Given the description of an element on the screen output the (x, y) to click on. 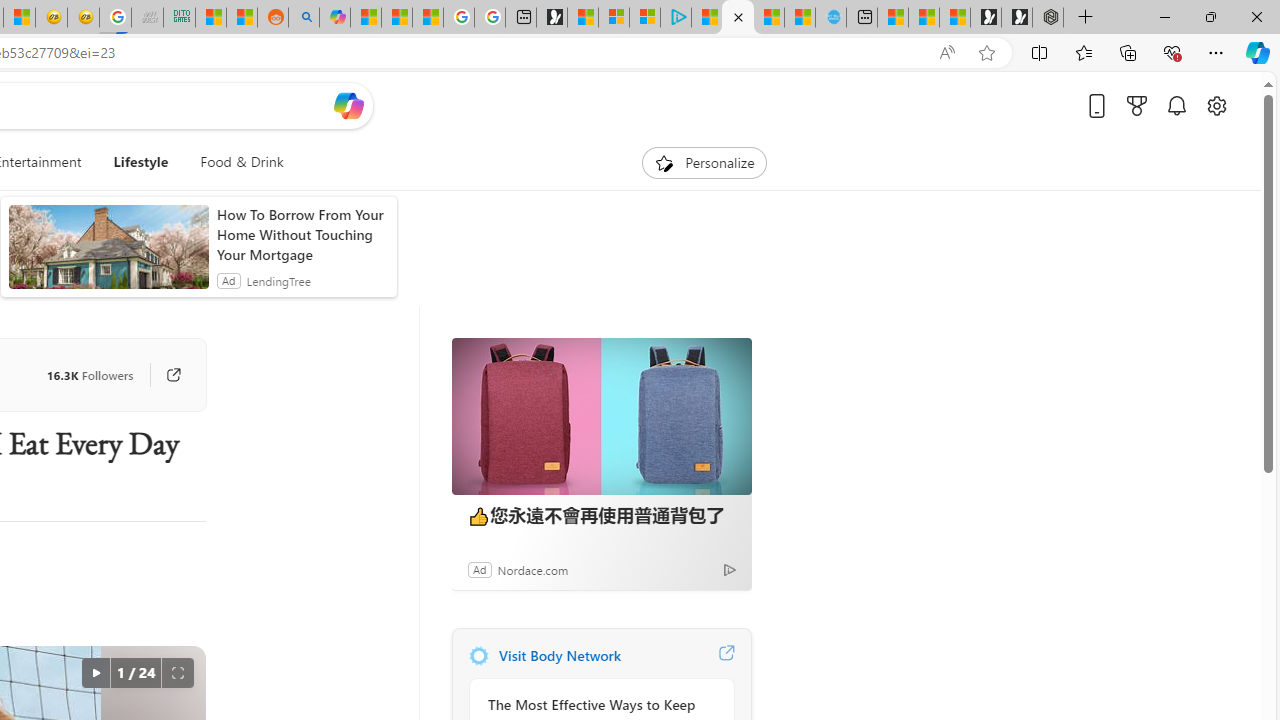
anim-content (107, 255)
autorotate button (95, 673)
